Given the description of an element on the screen output the (x, y) to click on. 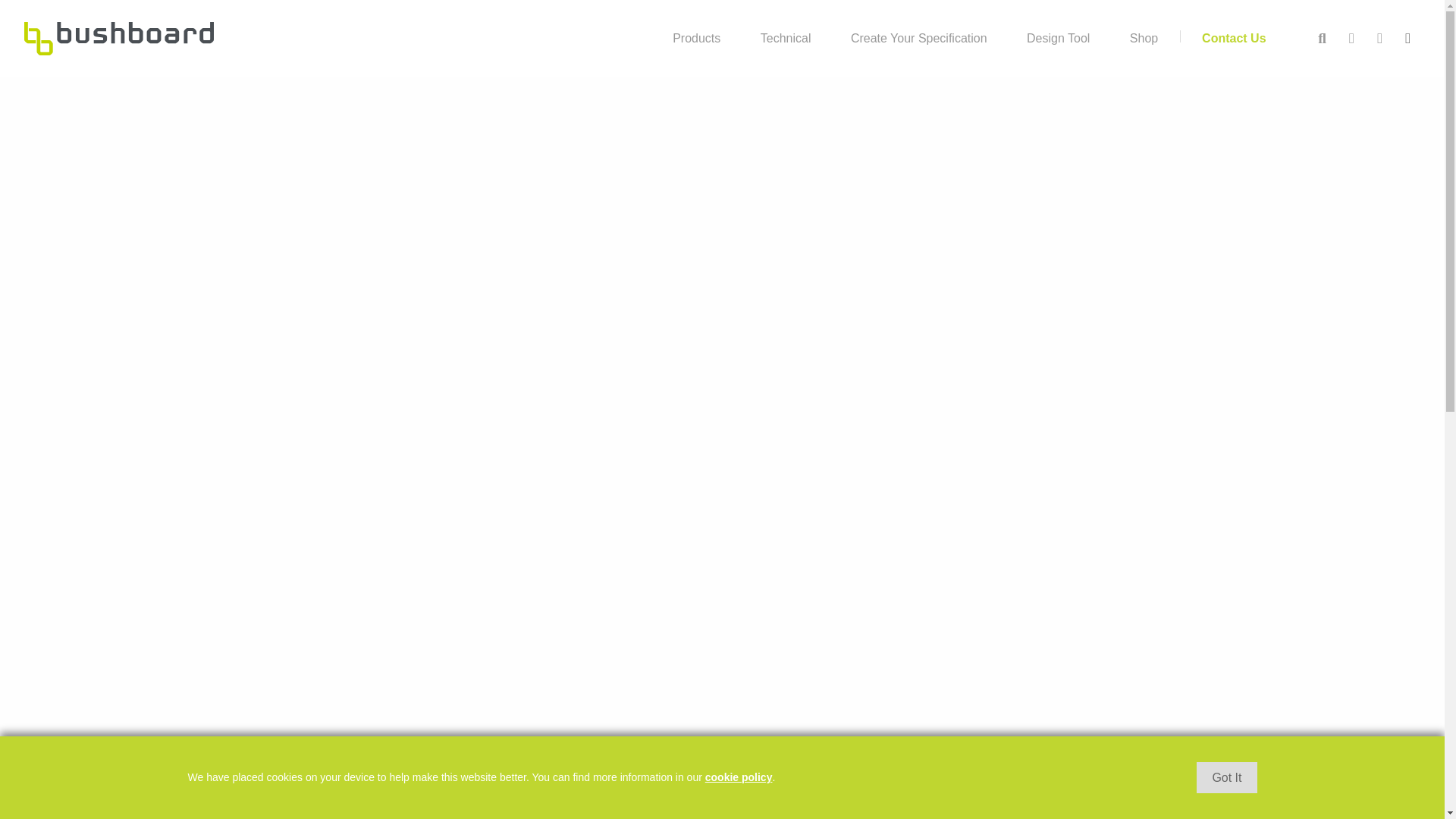
Products (695, 38)
Technical (785, 38)
Create Your Specification (919, 38)
Shop (1144, 38)
Contact Us (1233, 38)
cookie policy (738, 776)
Design Tool (1058, 38)
